Given the description of an element on the screen output the (x, y) to click on. 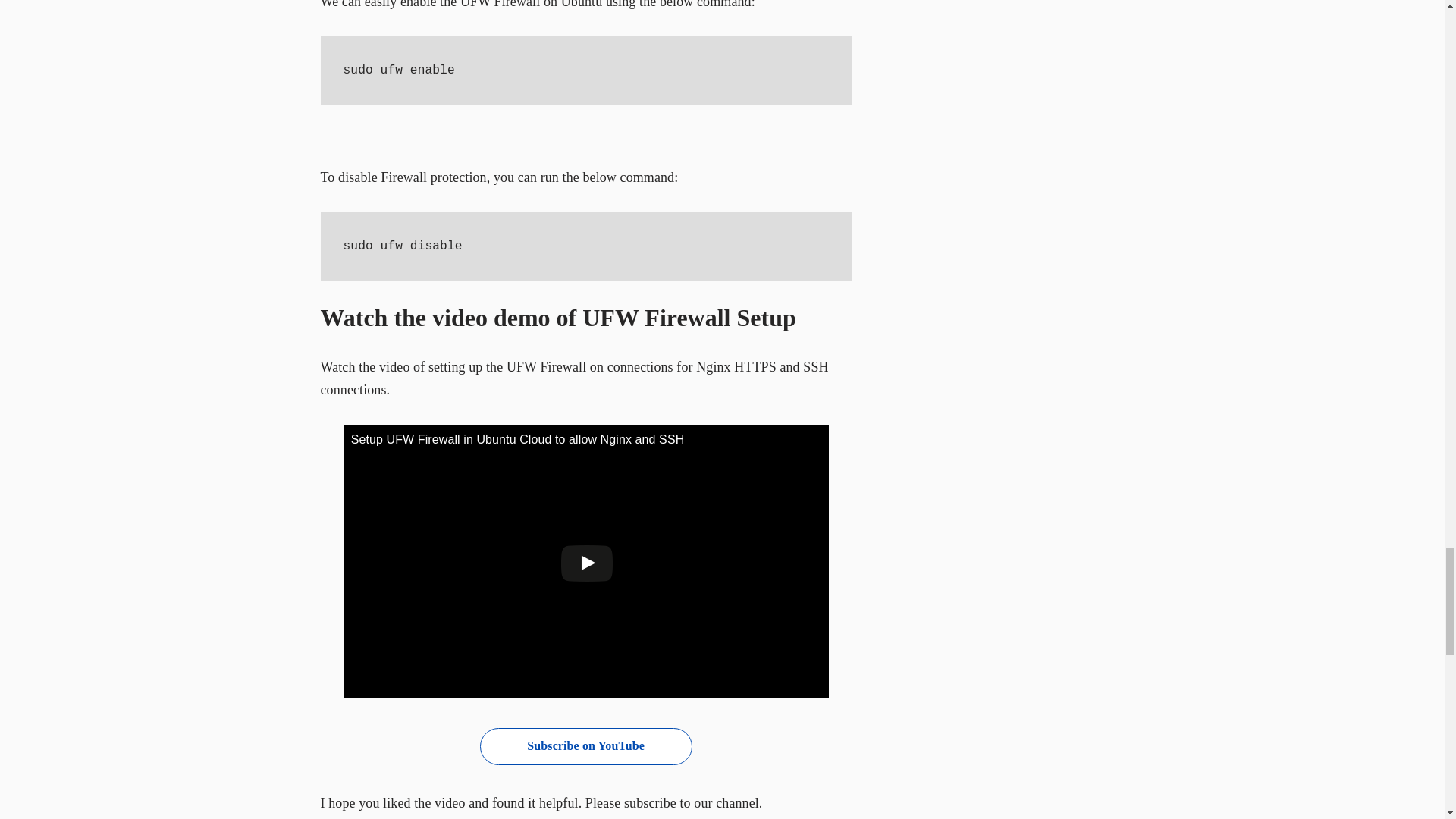
Subscribe on YouTube (586, 746)
